Given the description of an element on the screen output the (x, y) to click on. 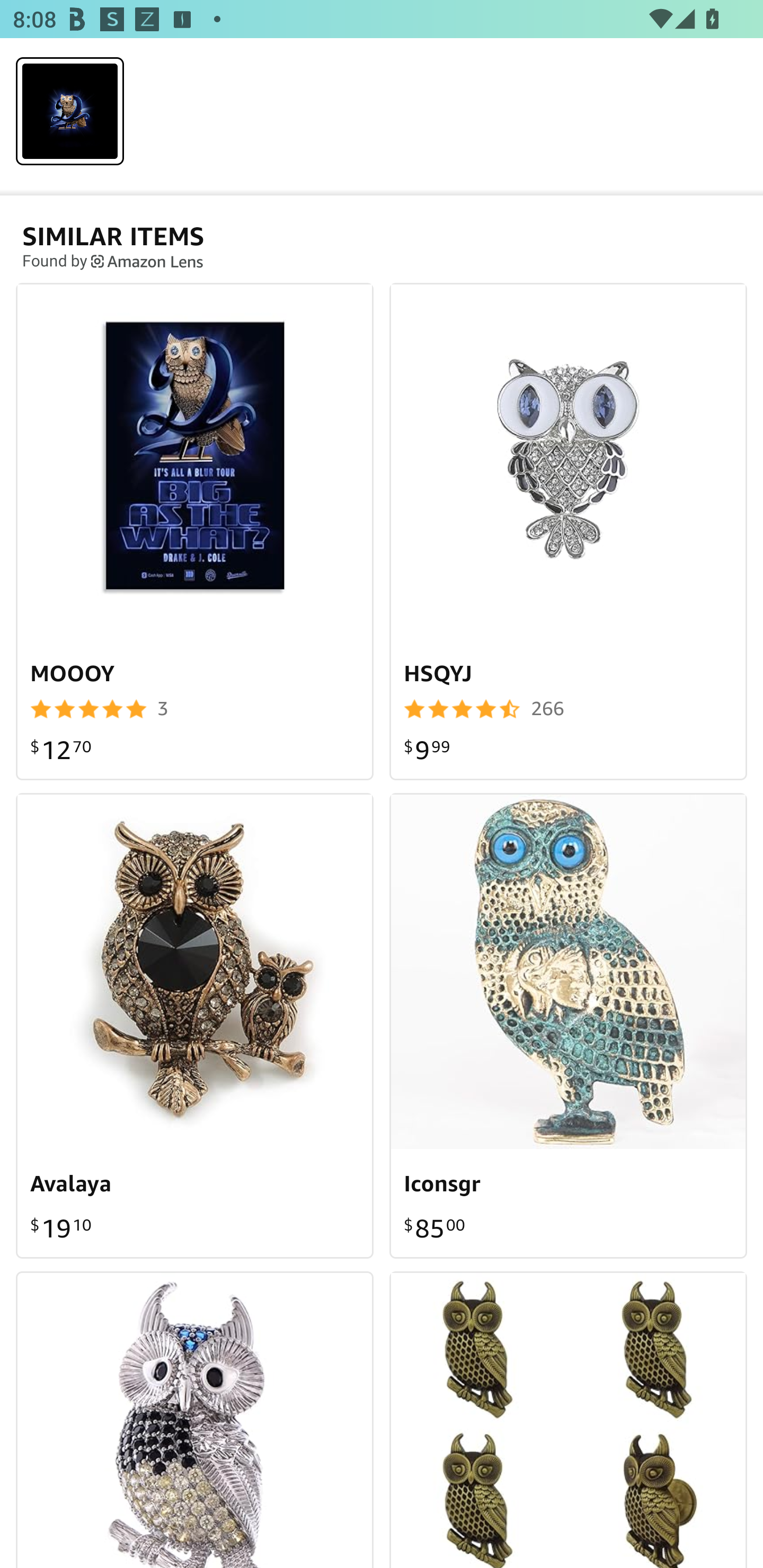
MOOOY 3 $ 12 70 (194, 531)
HSQYJ 266 $ 9 99 (567, 531)
Avalaya $ 19 10 (194, 1026)
Iconsgr $ 85 00 (567, 1026)
